Given the description of an element on the screen output the (x, y) to click on. 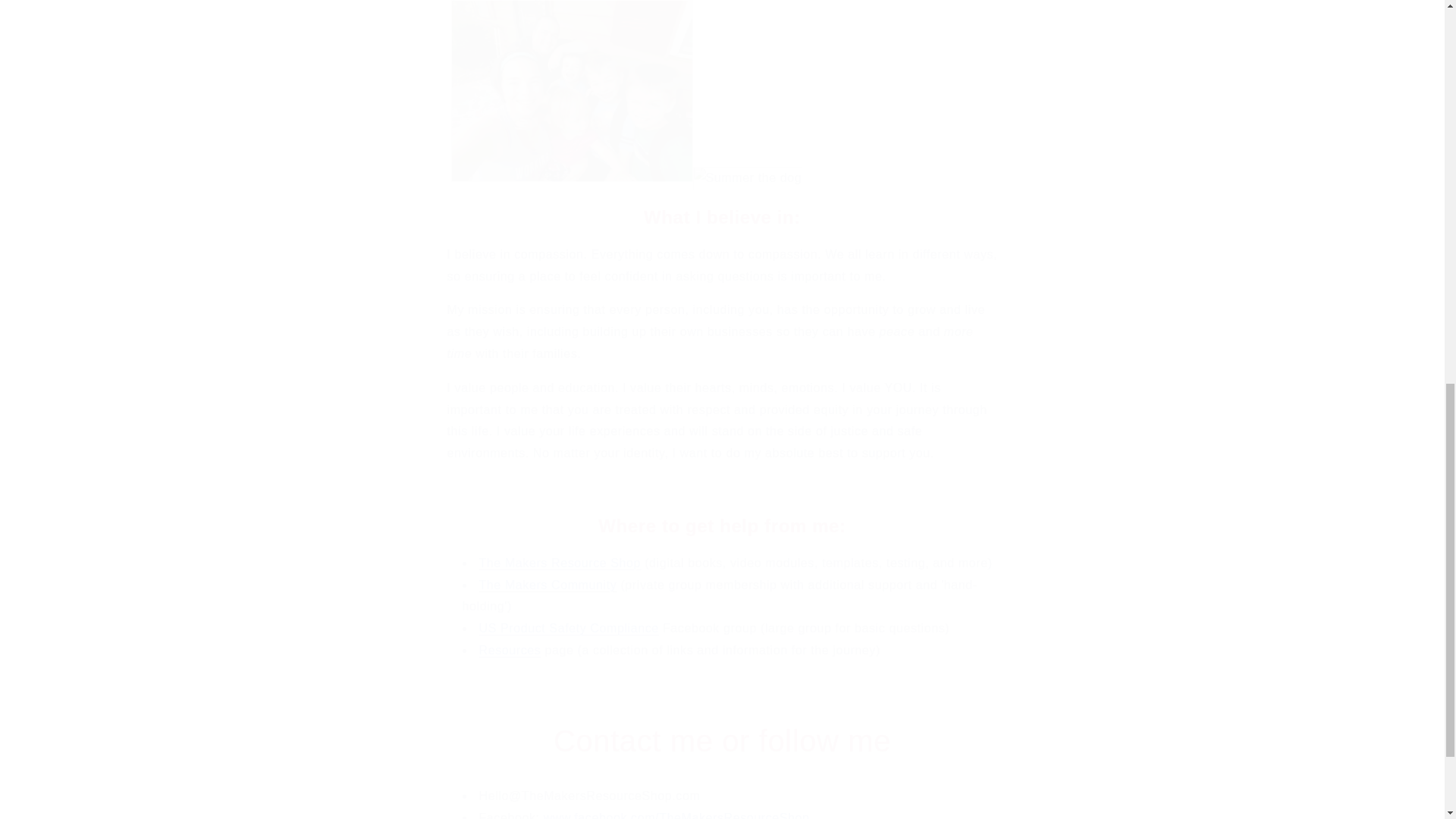
Facebook page (676, 815)
The Makers Resource Shop webstore link (560, 562)
US Product Safety Compliance Facebook group (569, 627)
The Makers Community private membership for support (548, 584)
Resources Page (510, 649)
